Given the description of an element on the screen output the (x, y) to click on. 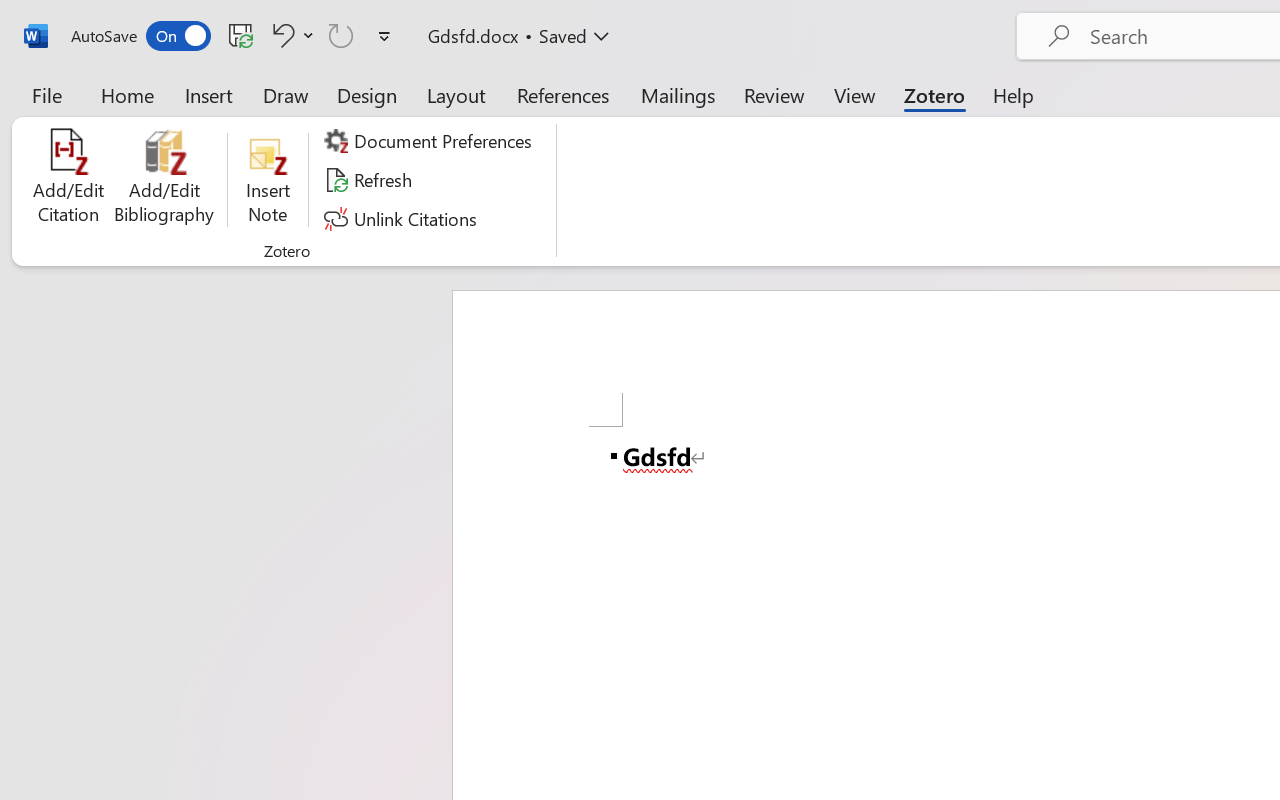
Can't Repeat (341, 35)
Unlink Citations (403, 218)
Undo <ApplyStyleToDoc>b__0 (290, 35)
Add/Edit Citation (68, 179)
Document Preferences (431, 141)
Add/Edit Bibliography (164, 179)
Refresh (370, 179)
